Given the description of an element on the screen output the (x, y) to click on. 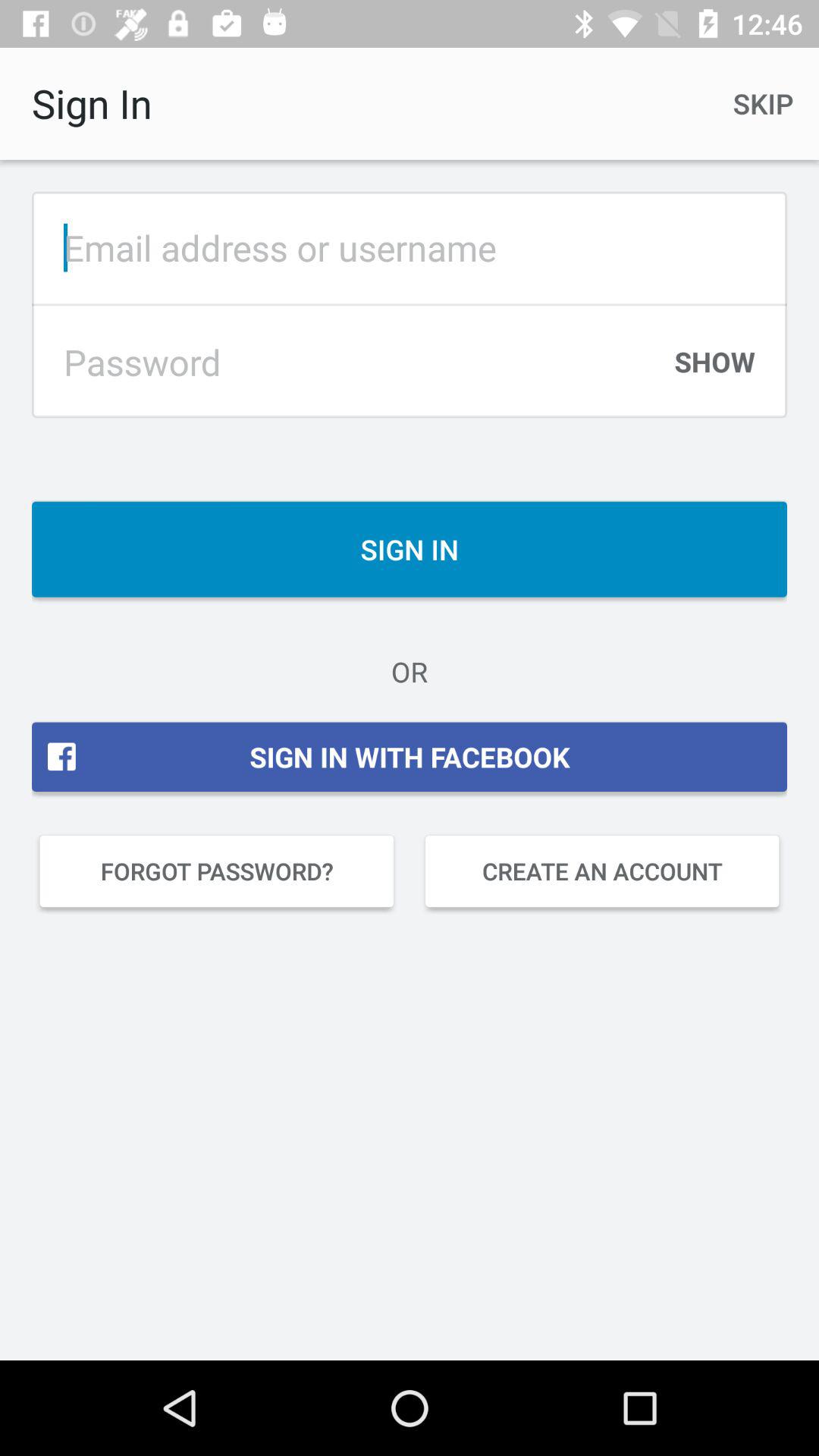
scroll until skip (763, 103)
